Given the description of an element on the screen output the (x, y) to click on. 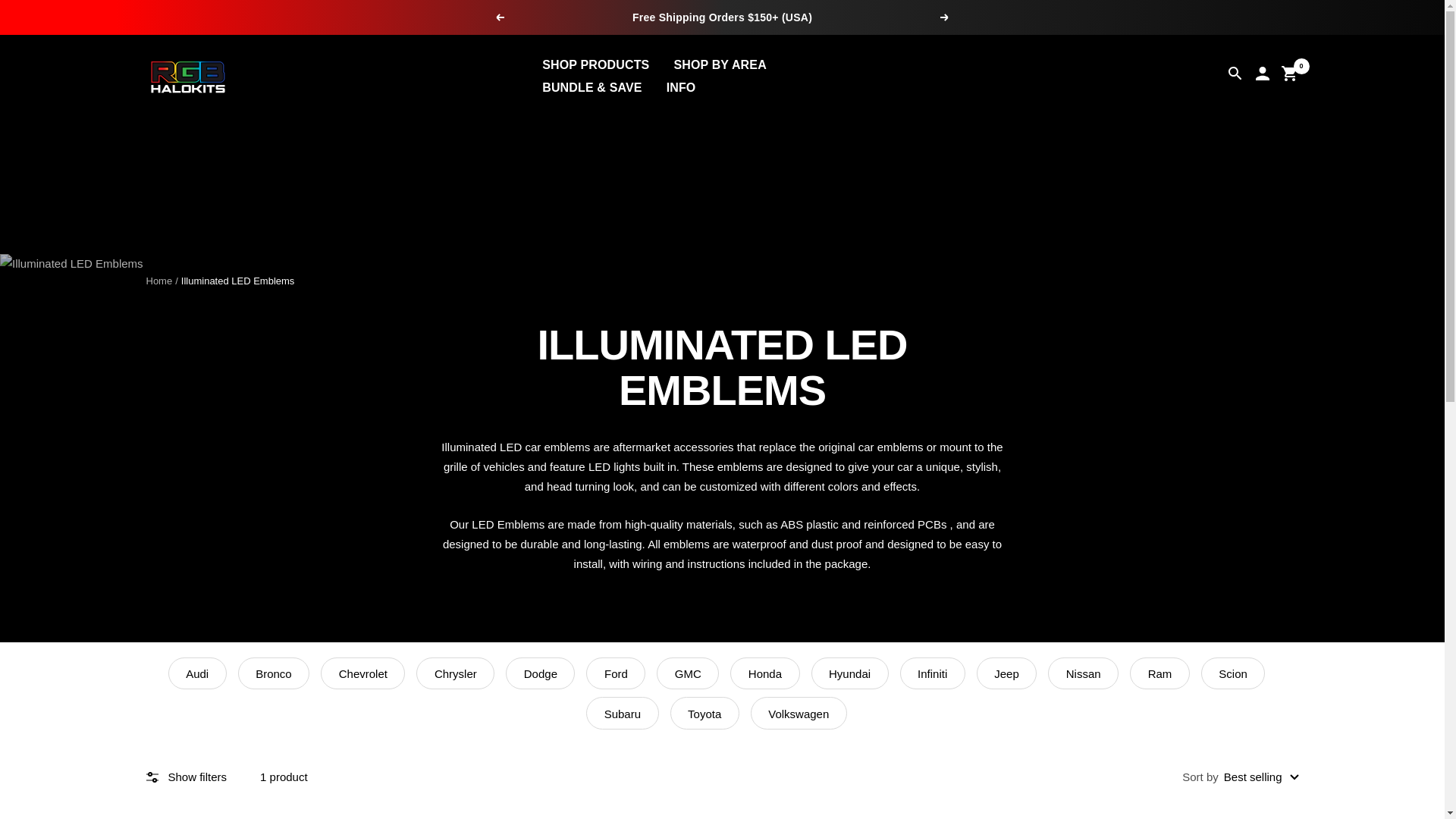
SHOP PRODUCTS (595, 64)
Previous (499, 17)
INFO (680, 87)
Next (944, 17)
SHOP BY AREA (718, 64)
RGB Halo Kits (186, 76)
